Given the description of an element on the screen output the (x, y) to click on. 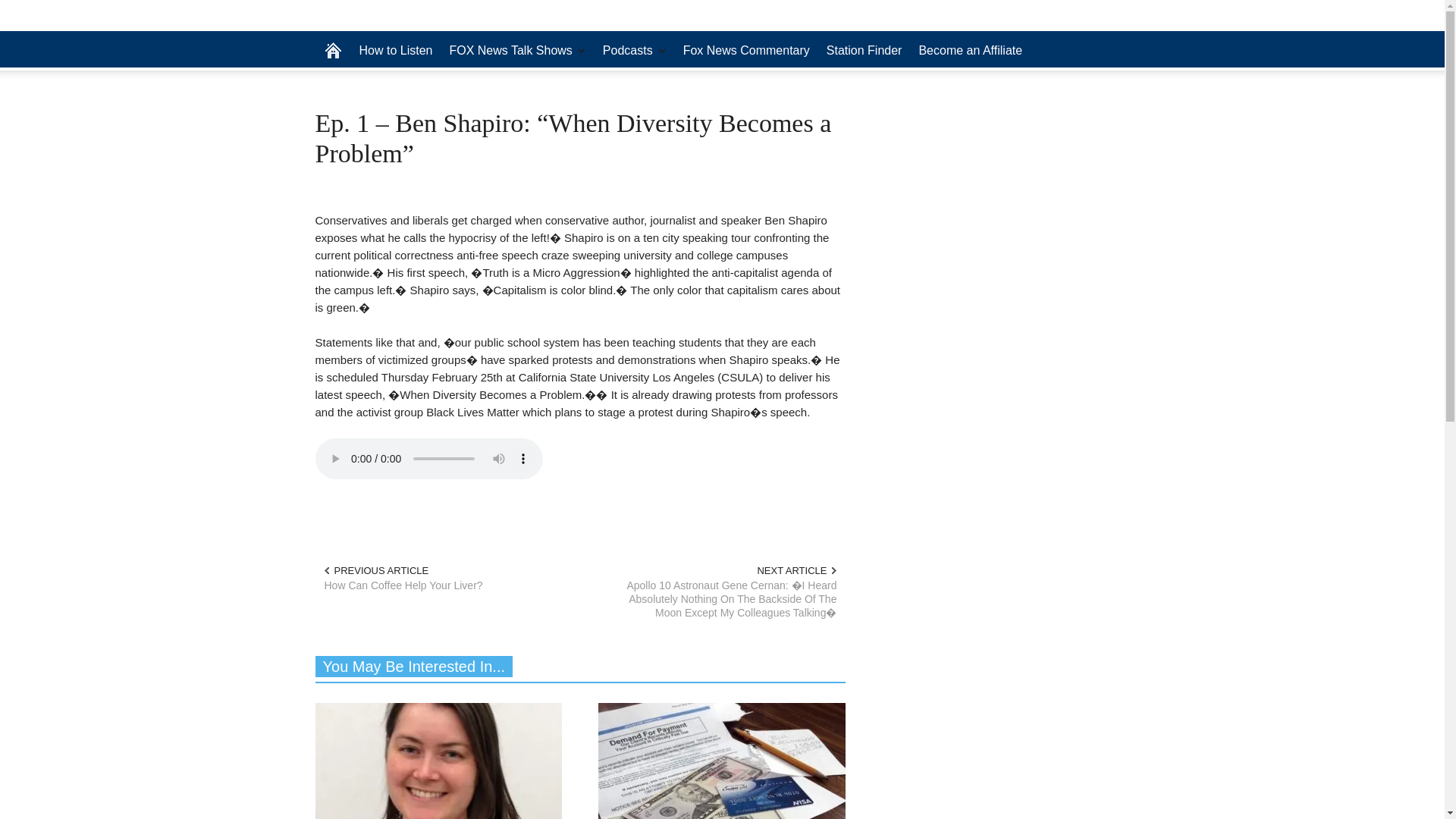
Home Page (332, 50)
